Given the description of an element on the screen output the (x, y) to click on. 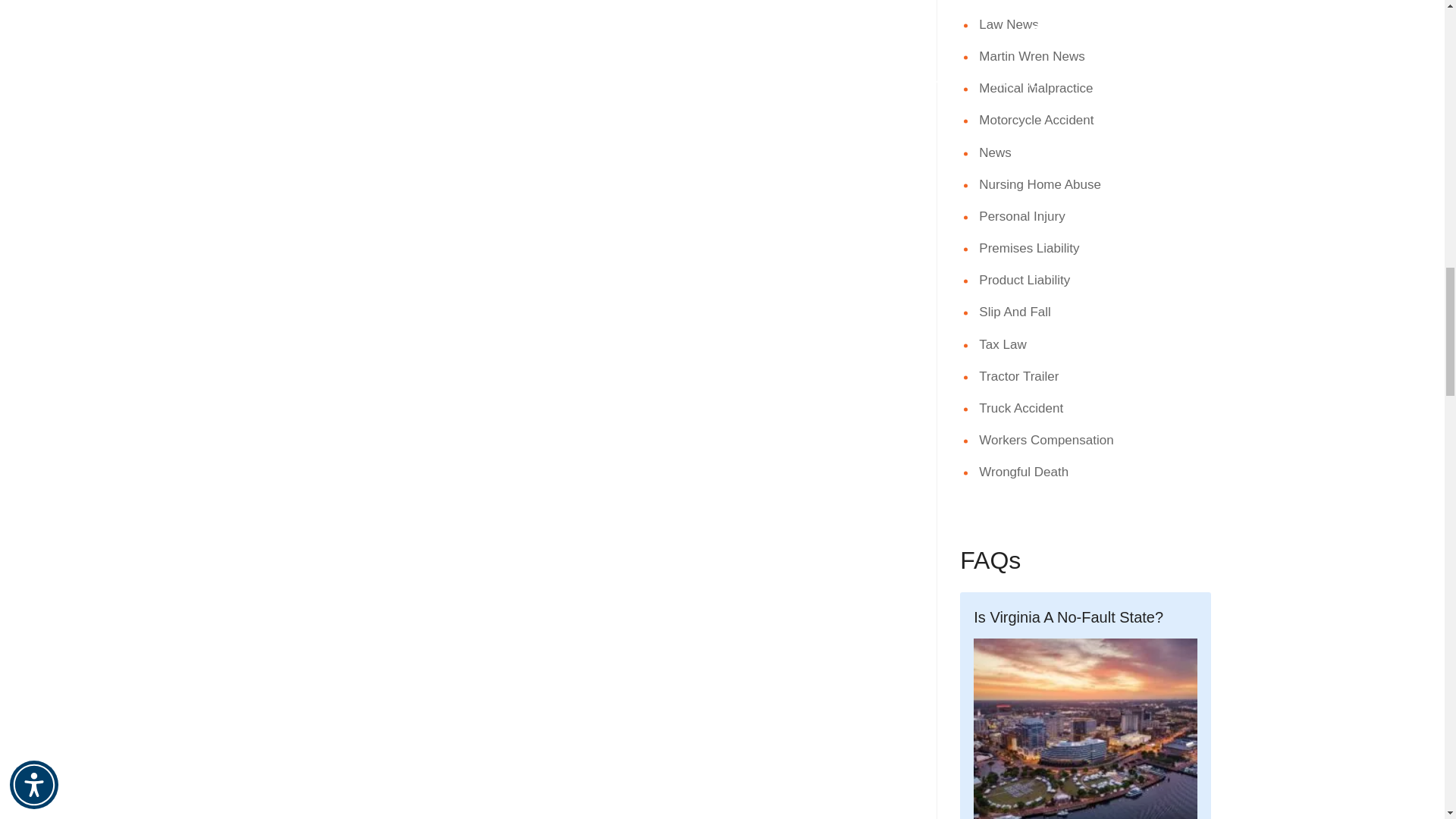
Is Virginia a No-Fault State? (1085, 728)
Is Virginia a No-Fault State? (1085, 705)
